Given the description of an element on the screen output the (x, y) to click on. 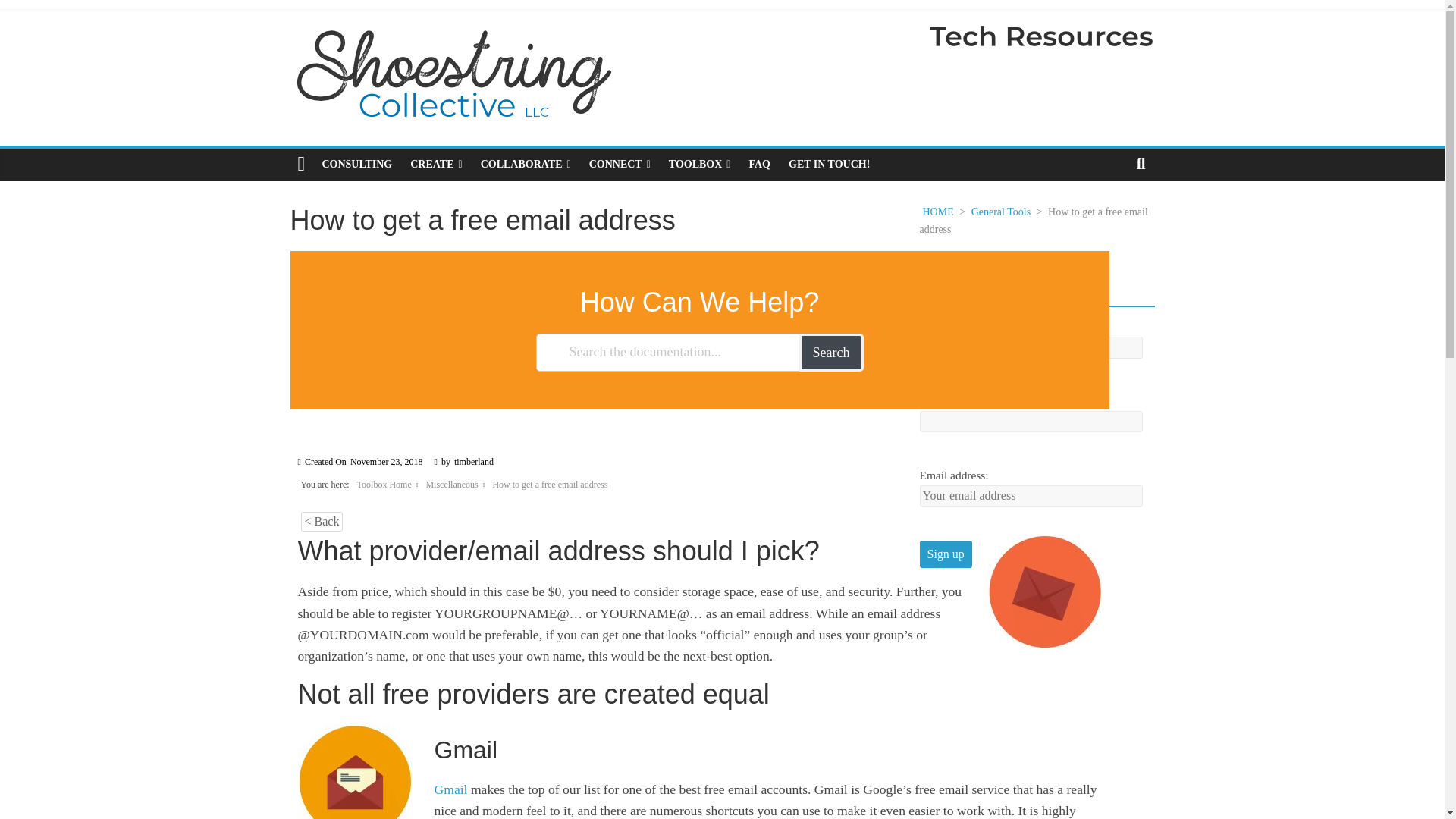
Miscellaneous (451, 484)
TOOLBOX (699, 164)
CONNECT (619, 164)
FAQ (758, 164)
General Tools (1000, 211)
COLLABORATE (525, 164)
Sign up (944, 554)
CONSULTING (357, 164)
HOME (937, 211)
CREATE (435, 164)
Gmail (450, 789)
Search (831, 352)
Toolbox Home (384, 484)
Go to the General Tools Category archives. (1000, 211)
GET IN TOUCH! (828, 164)
